Given the description of an element on the screen output the (x, y) to click on. 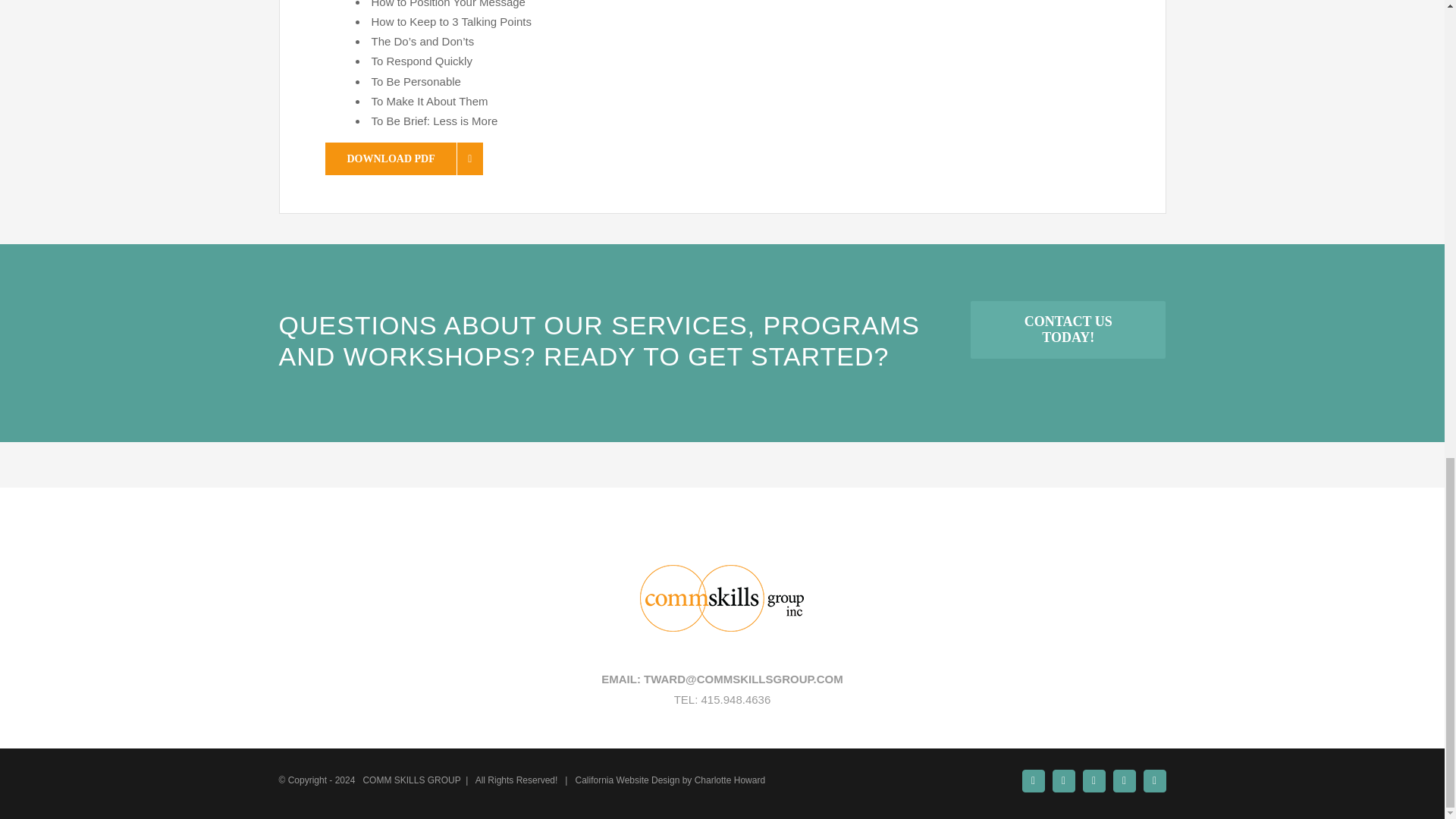
linkedin (1033, 780)
instagram (1154, 780)
twitter (1124, 780)
youtube (1063, 780)
facebook (1094, 780)
